Given the description of an element on the screen output the (x, y) to click on. 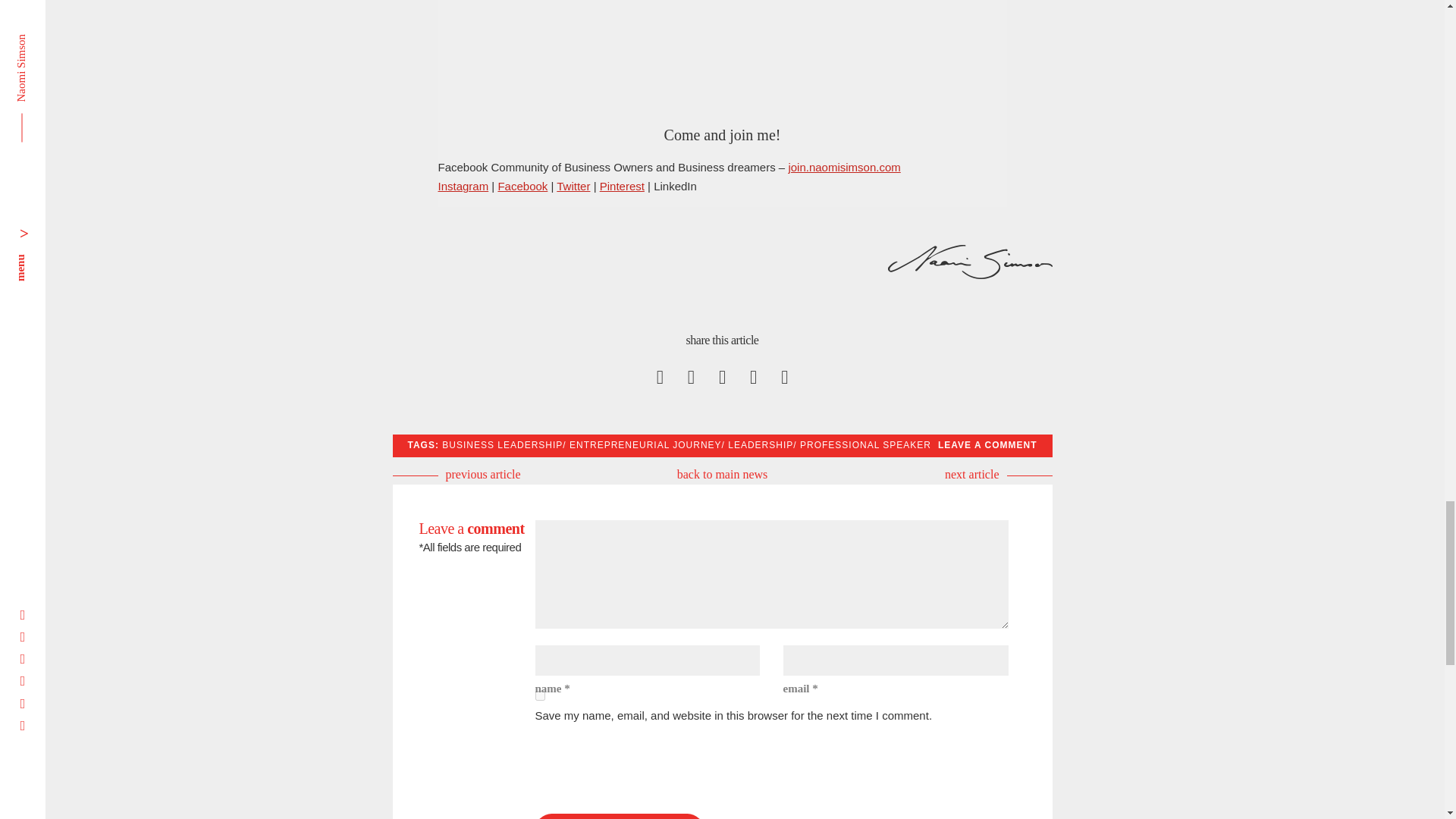
yes (539, 696)
Submit Comment (619, 816)
